Given the description of an element on the screen output the (x, y) to click on. 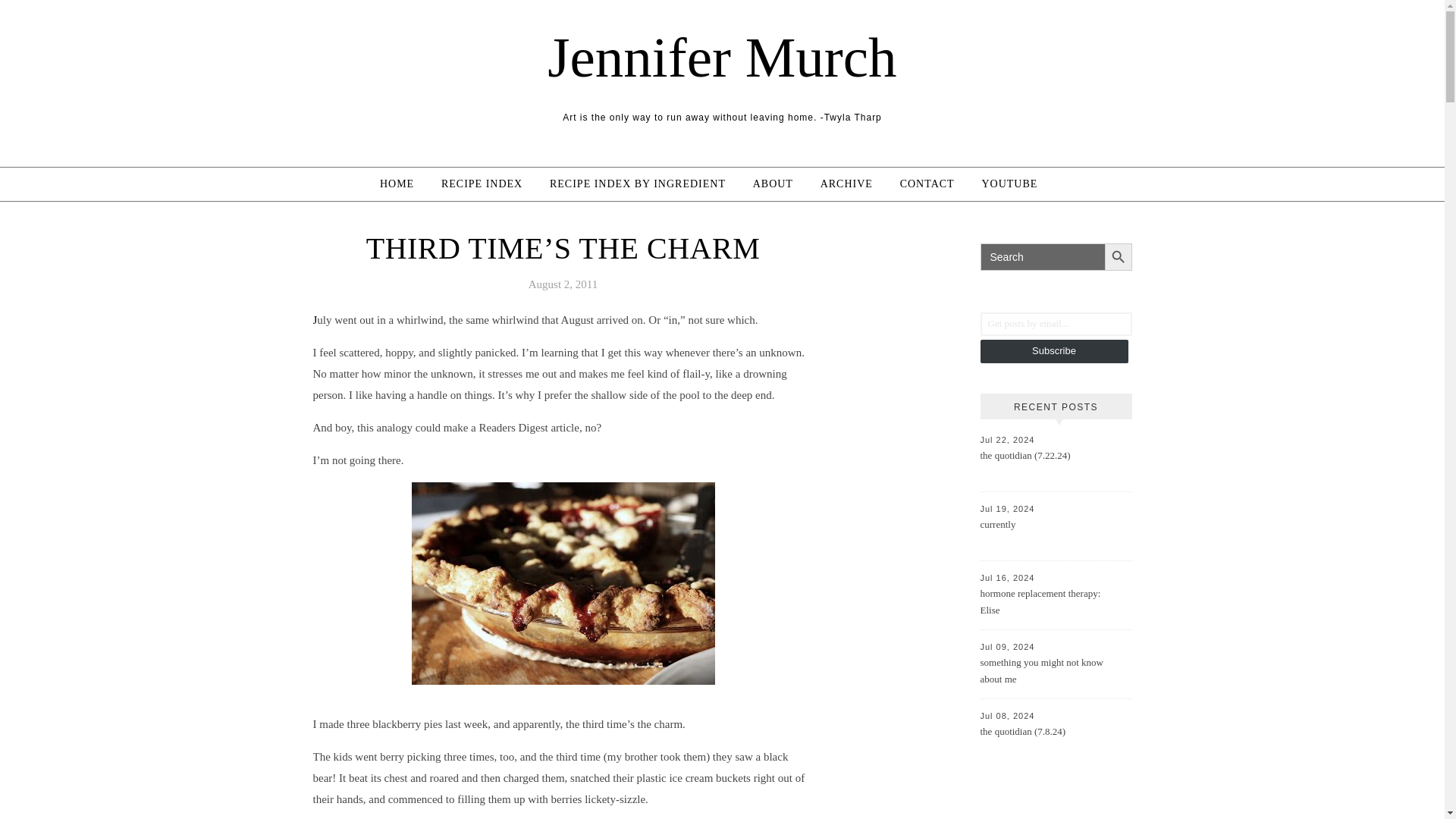
RECIPE INDEX (481, 183)
YOUTUBE (1009, 183)
HOME (403, 183)
ABOUT (773, 183)
ARCHIVE (846, 183)
RECIPE INDEX BY INGREDIENT (637, 183)
CONTACT (927, 183)
Please fill in this field. (1055, 323)
Jennifer Murch (721, 56)
